Given the description of an element on the screen output the (x, y) to click on. 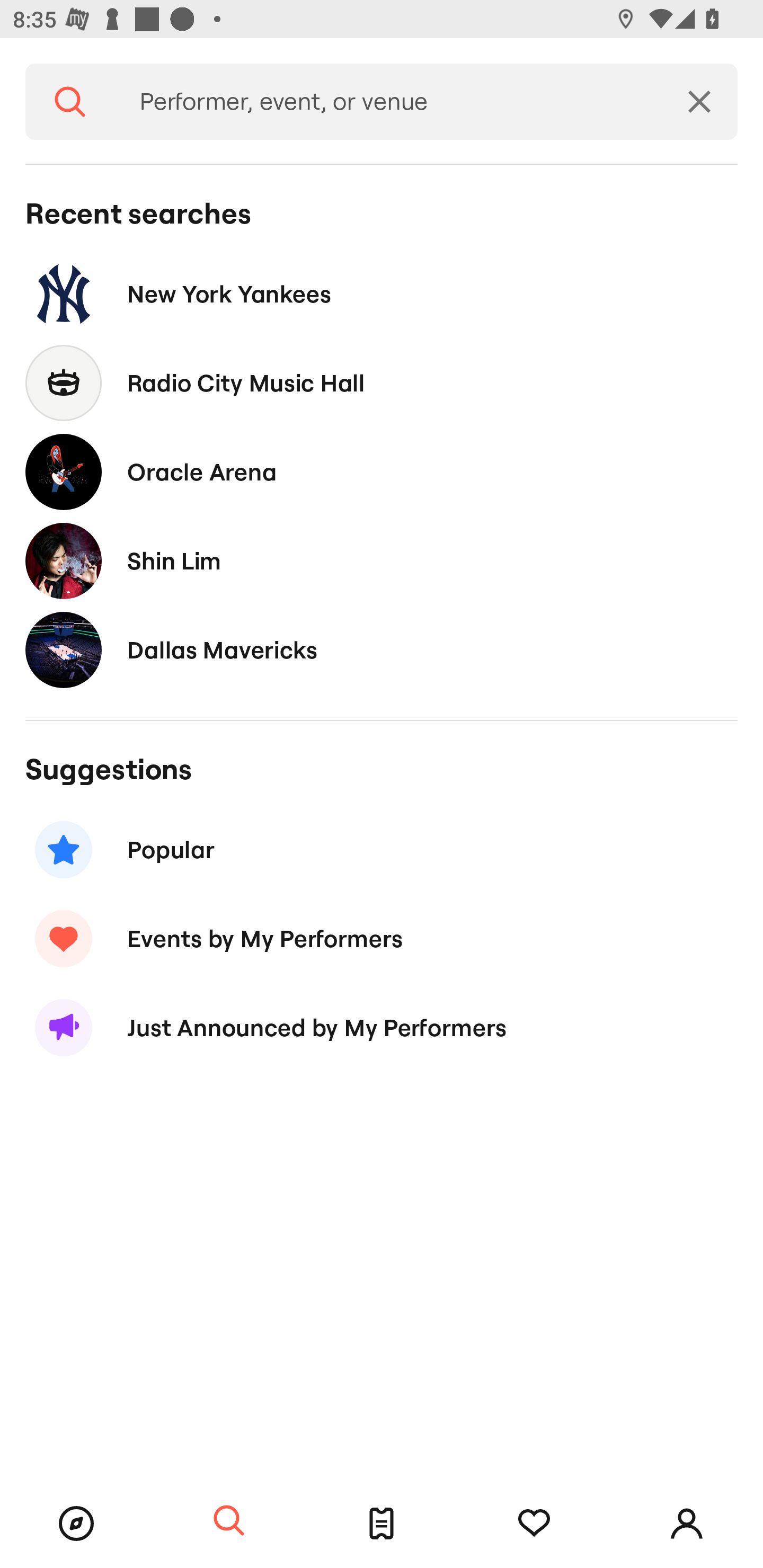
Search (69, 101)
Performer, event, or venue (387, 101)
Clear (699, 101)
New York Yankees (381, 293)
Radio City Music Hall (381, 383)
Oracle Arena (381, 471)
Shin Lim (381, 560)
Dallas Mavericks (381, 649)
Popular (381, 849)
Events by My Performers (381, 938)
Just Announced by My Performers (381, 1027)
Browse (76, 1523)
Search (228, 1521)
Tickets (381, 1523)
Tracking (533, 1523)
Account (686, 1523)
